Given the description of an element on the screen output the (x, y) to click on. 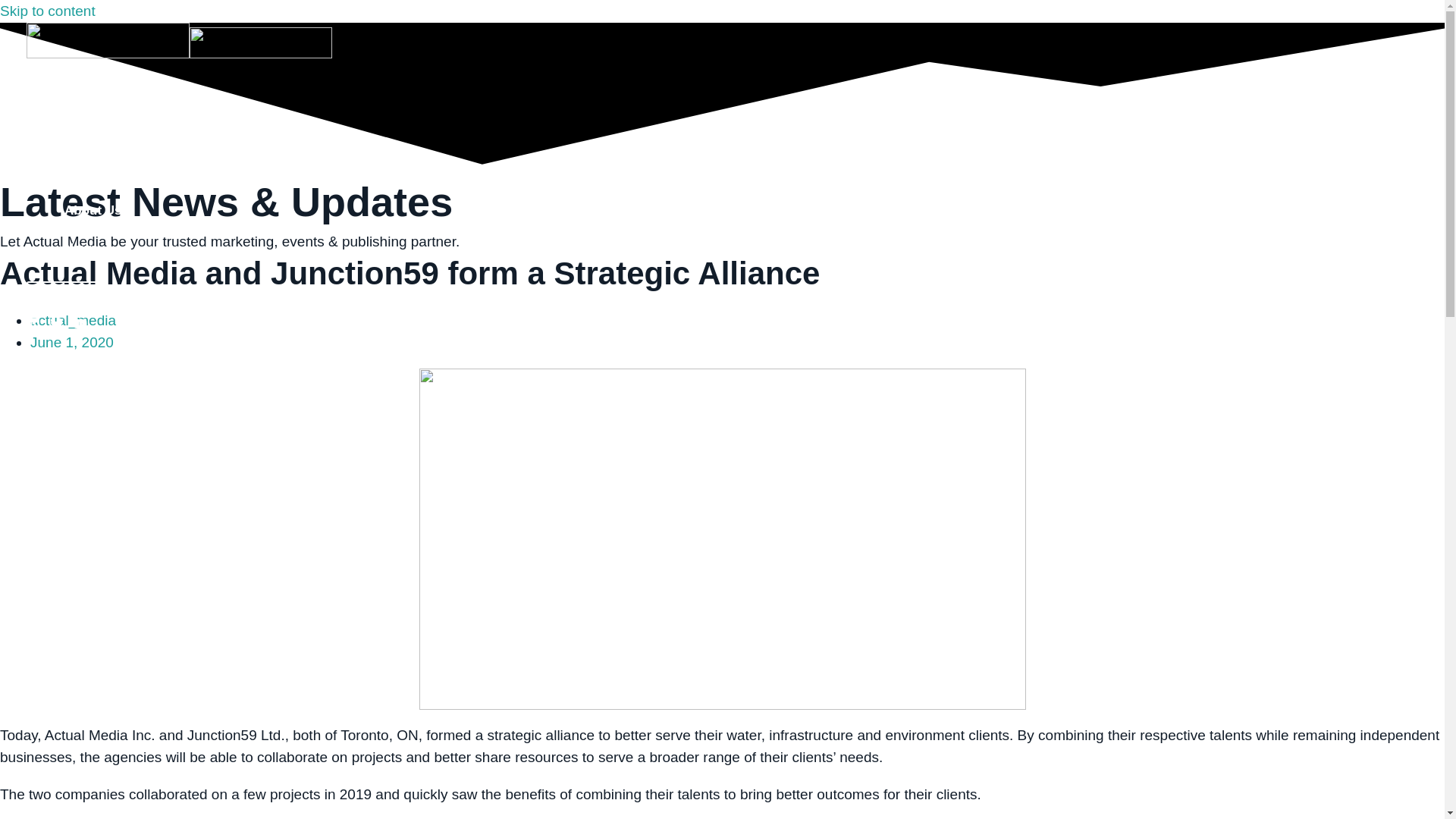
June 1, 2020 (71, 342)
Agency (97, 97)
Events (97, 135)
News (97, 248)
Skip to content (48, 10)
Publishing (97, 173)
Contact (66, 296)
Skip to content (48, 10)
About Us (97, 210)
